Given the description of an element on the screen output the (x, y) to click on. 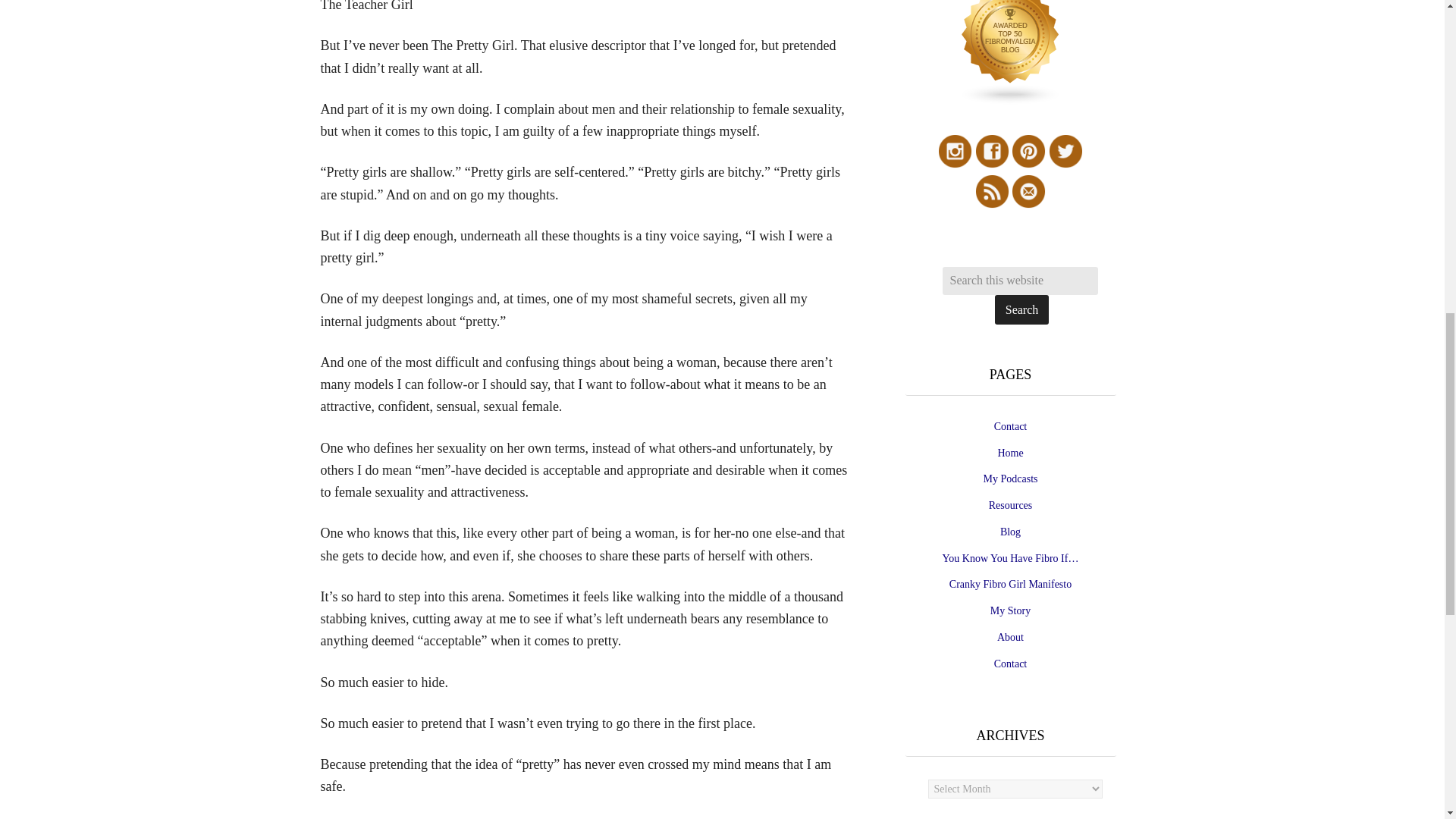
Home (1010, 452)
About (1010, 636)
My Story (1010, 610)
Resources (1010, 505)
Fibromyalgia blogs (1010, 101)
Search (1021, 309)
Search (1021, 309)
Search (1021, 309)
Cranky Fibro Girl Manifesto (1010, 583)
My Podcasts (1011, 478)
